Given the description of an element on the screen output the (x, y) to click on. 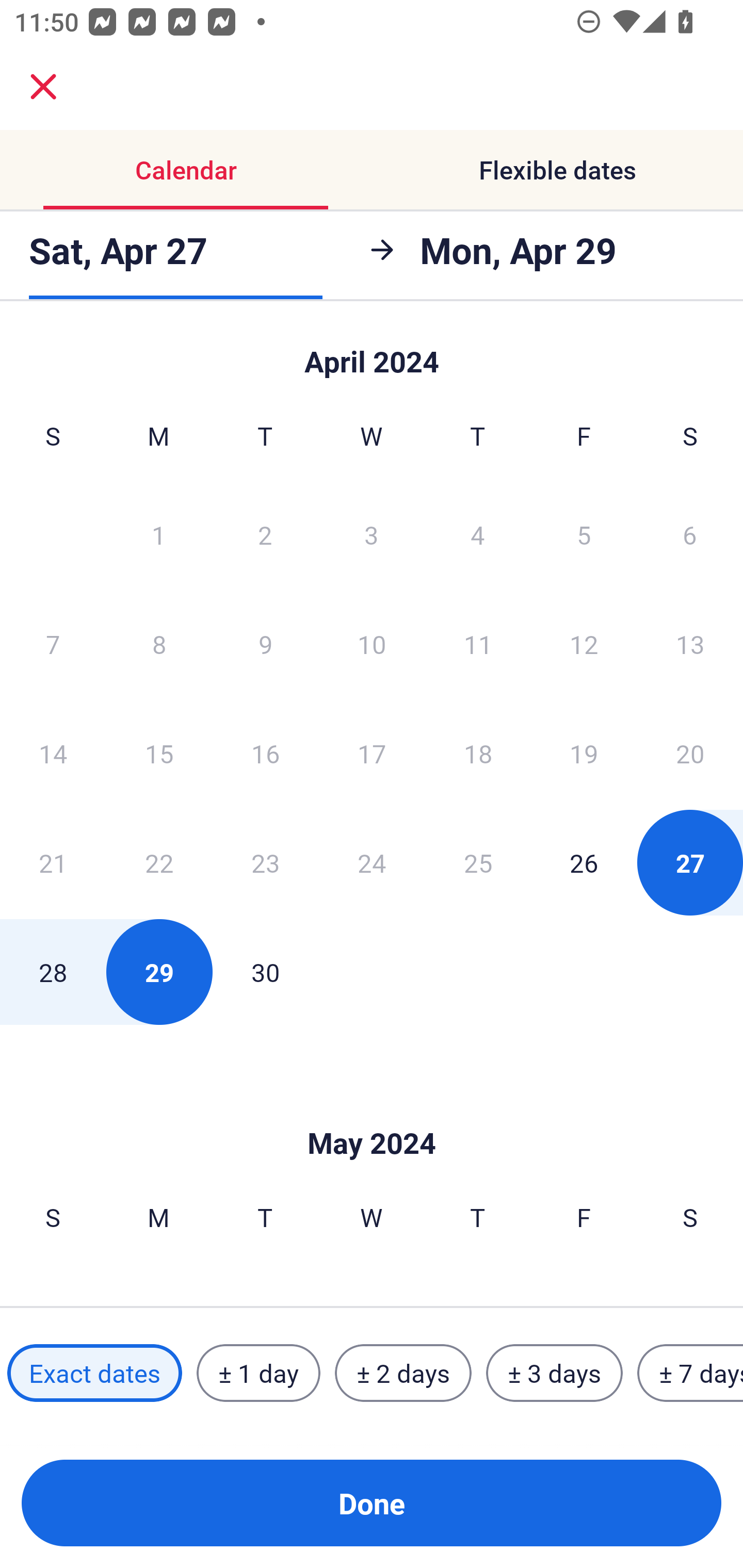
close. (43, 86)
Flexible dates (557, 170)
Skip to Done (371, 352)
1 Monday, April 1, 2024 (158, 534)
2 Tuesday, April 2, 2024 (264, 534)
3 Wednesday, April 3, 2024 (371, 534)
4 Thursday, April 4, 2024 (477, 534)
5 Friday, April 5, 2024 (583, 534)
6 Saturday, April 6, 2024 (689, 534)
7 Sunday, April 7, 2024 (53, 643)
8 Monday, April 8, 2024 (159, 643)
9 Tuesday, April 9, 2024 (265, 643)
10 Wednesday, April 10, 2024 (371, 643)
11 Thursday, April 11, 2024 (477, 643)
12 Friday, April 12, 2024 (584, 643)
13 Saturday, April 13, 2024 (690, 643)
14 Sunday, April 14, 2024 (53, 752)
15 Monday, April 15, 2024 (159, 752)
16 Tuesday, April 16, 2024 (265, 752)
17 Wednesday, April 17, 2024 (371, 752)
18 Thursday, April 18, 2024 (477, 752)
19 Friday, April 19, 2024 (584, 752)
20 Saturday, April 20, 2024 (690, 752)
21 Sunday, April 21, 2024 (53, 862)
22 Monday, April 22, 2024 (159, 862)
23 Tuesday, April 23, 2024 (265, 862)
24 Wednesday, April 24, 2024 (371, 862)
25 Thursday, April 25, 2024 (477, 862)
26 Friday, April 26, 2024 (584, 862)
30 Tuesday, April 30, 2024 (265, 971)
Skip to Done (371, 1112)
Exact dates (94, 1372)
± 1 day (258, 1372)
± 2 days (403, 1372)
± 3 days (553, 1372)
± 7 days (690, 1372)
Done (371, 1502)
